Given the description of an element on the screen output the (x, y) to click on. 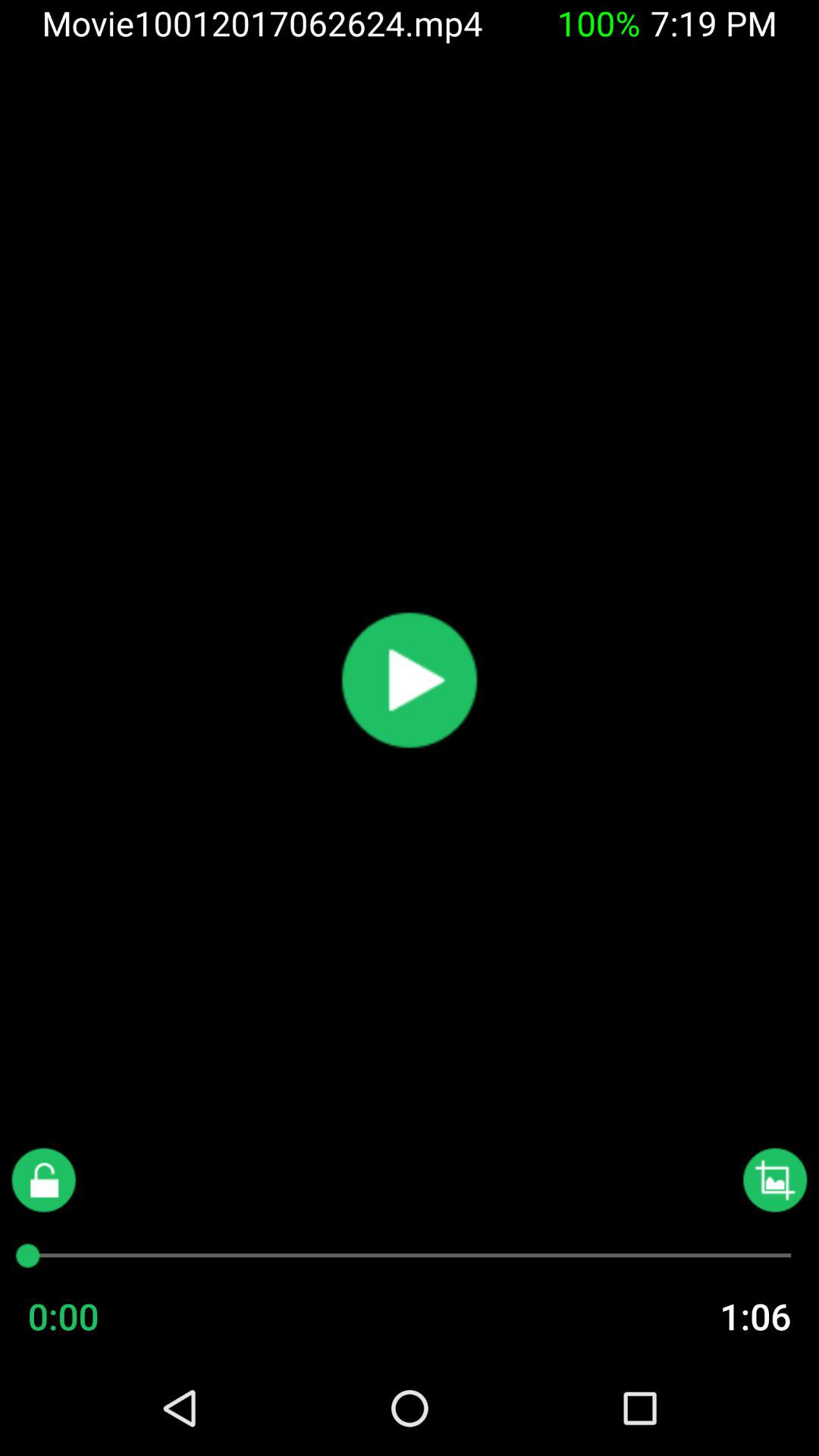
scroll until the 0:00 (93, 1315)
